Given the description of an element on the screen output the (x, y) to click on. 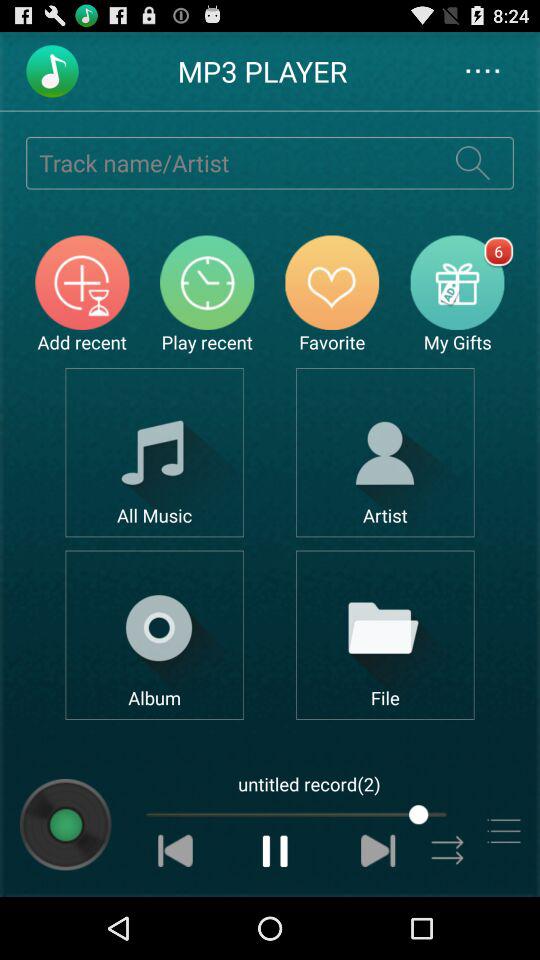
search music (472, 162)
